Given the description of an element on the screen output the (x, y) to click on. 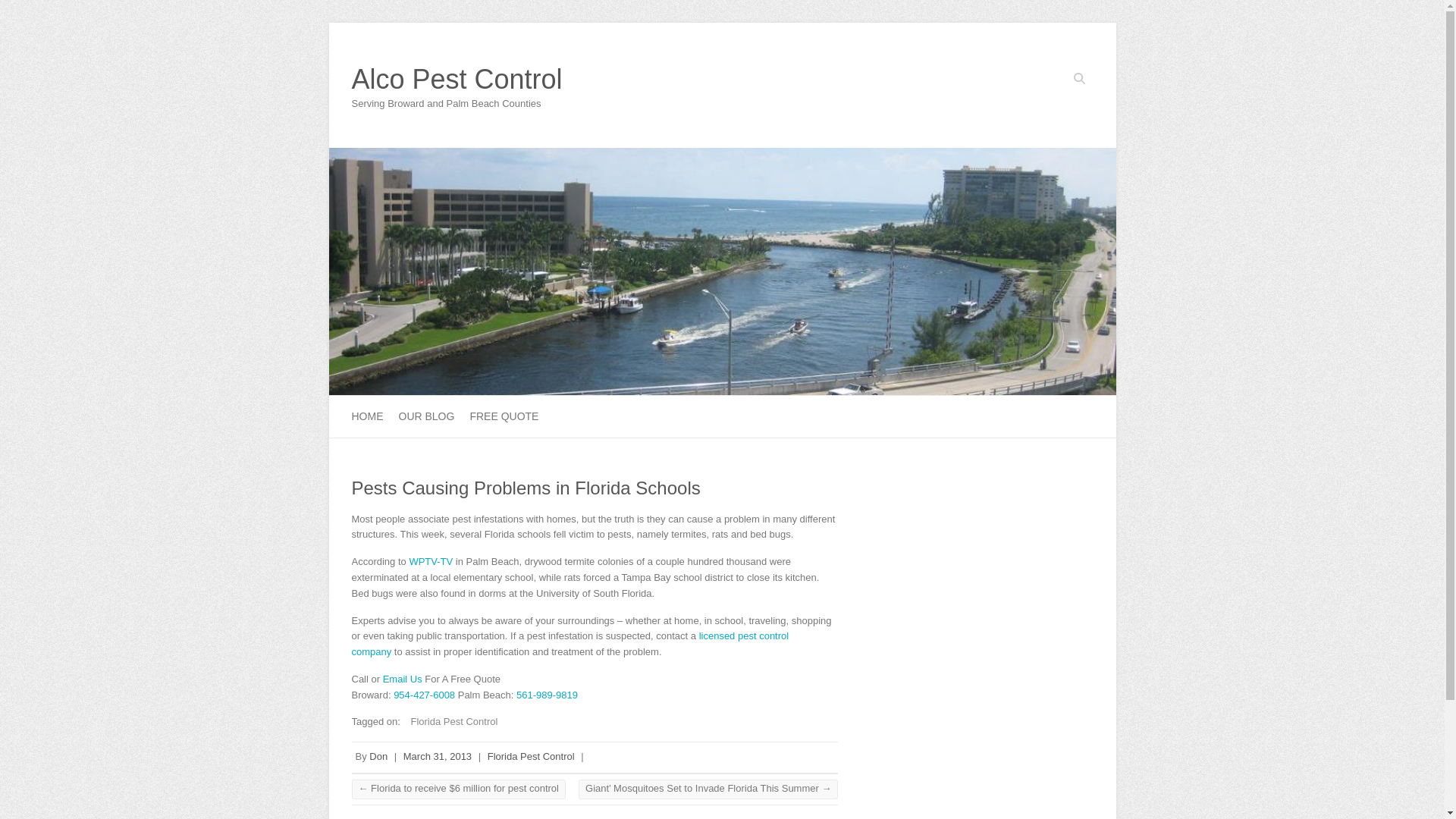
license Florida pest control (570, 643)
8:20 pm (437, 756)
March 31, 2013 (437, 756)
Email Us (402, 678)
Florida Pest Control (531, 756)
Florida Pest Control (450, 721)
Alco Pest Control (457, 79)
OUR BLOG (426, 416)
561-989-9819 (547, 695)
FREE QUOTE (503, 416)
